Given the description of an element on the screen output the (x, y) to click on. 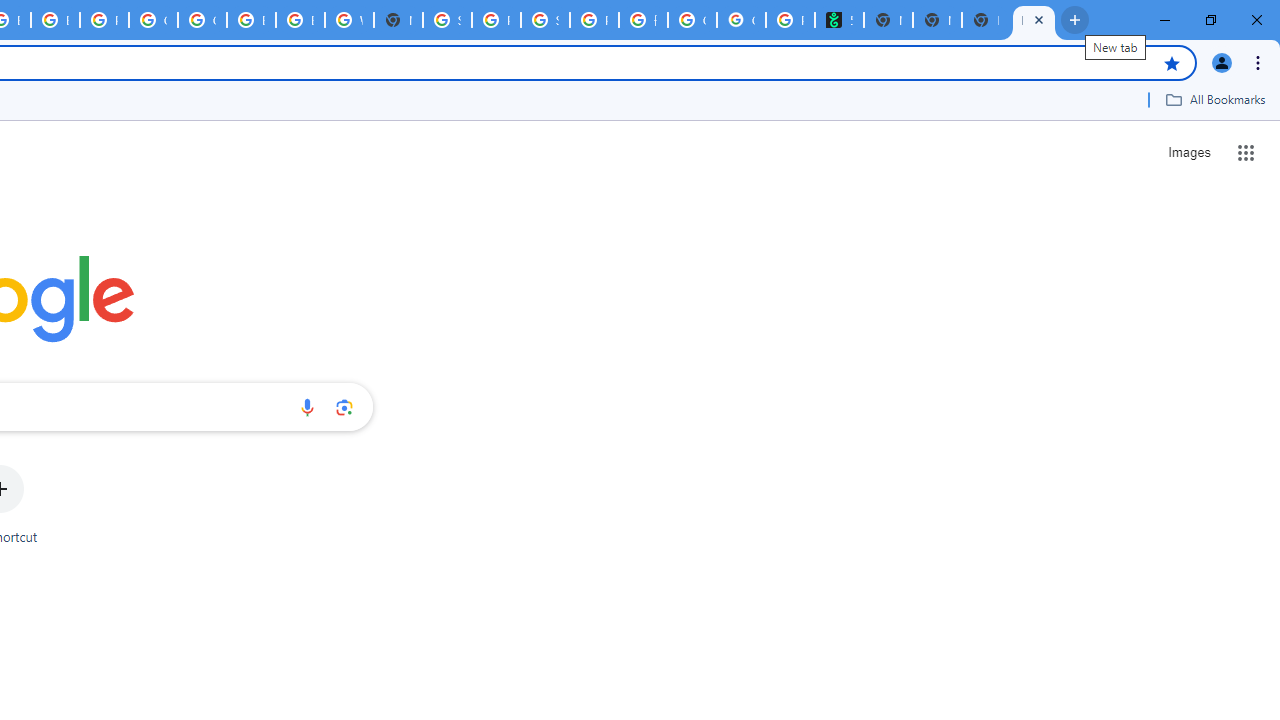
Search by image (344, 407)
